Given the description of an element on the screen output the (x, y) to click on. 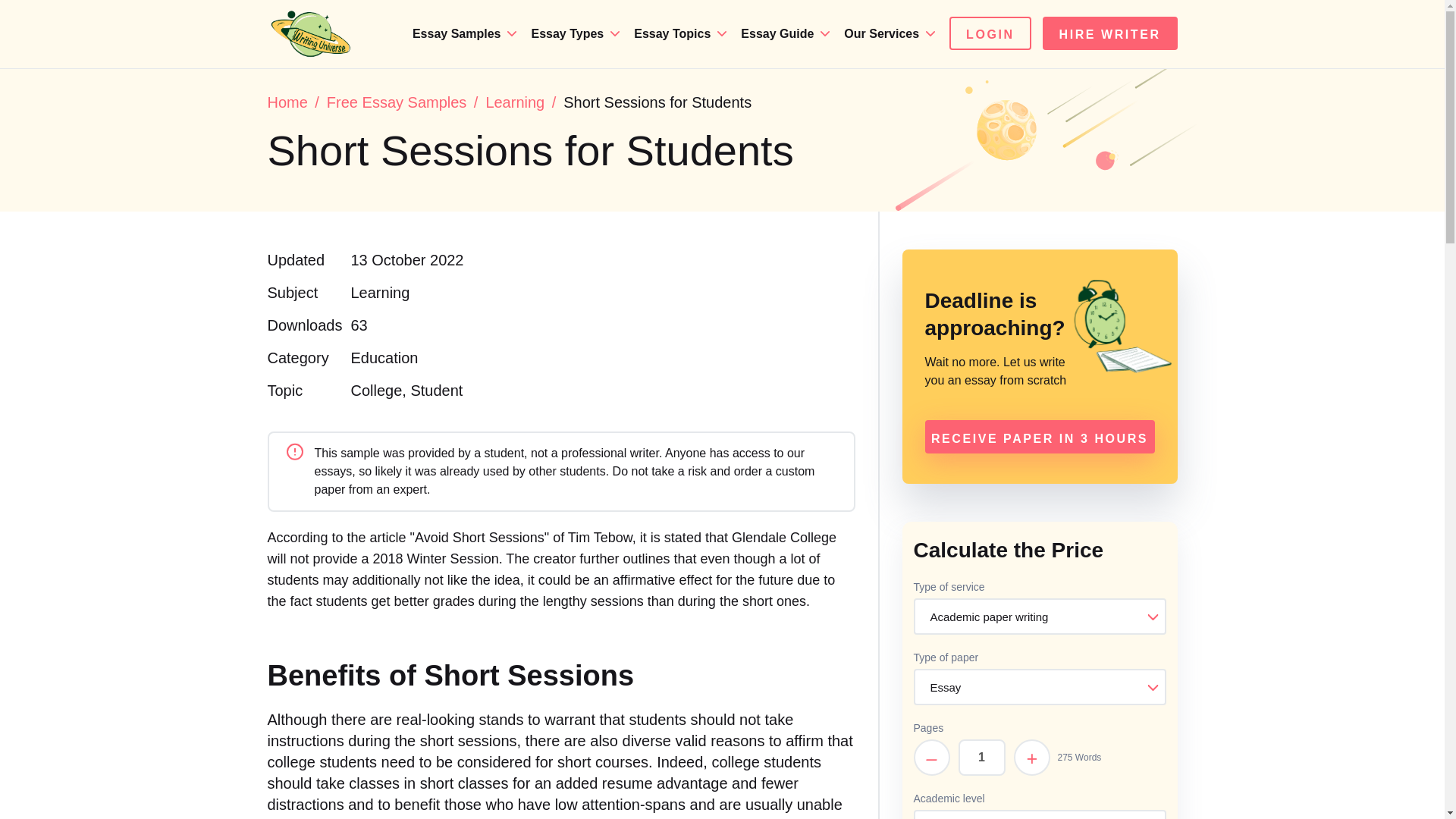
Essay Types (569, 33)
Essay Samples (458, 33)
1 (982, 757)
